Given the description of an element on the screen output the (x, y) to click on. 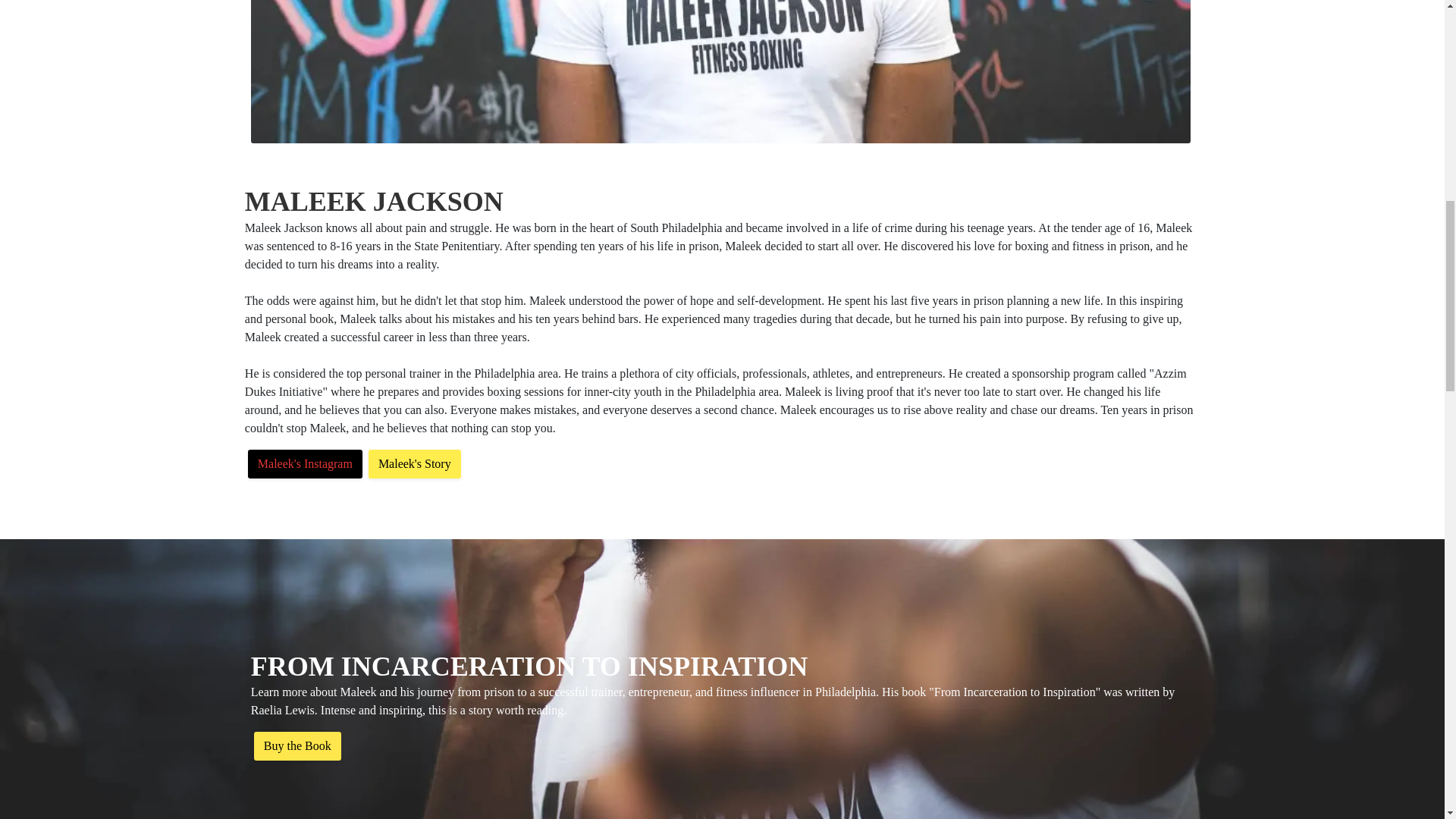
Maleek's Story (414, 463)
Maleek's Instagram (304, 463)
Buy the Book (296, 746)
